Given the description of an element on the screen output the (x, y) to click on. 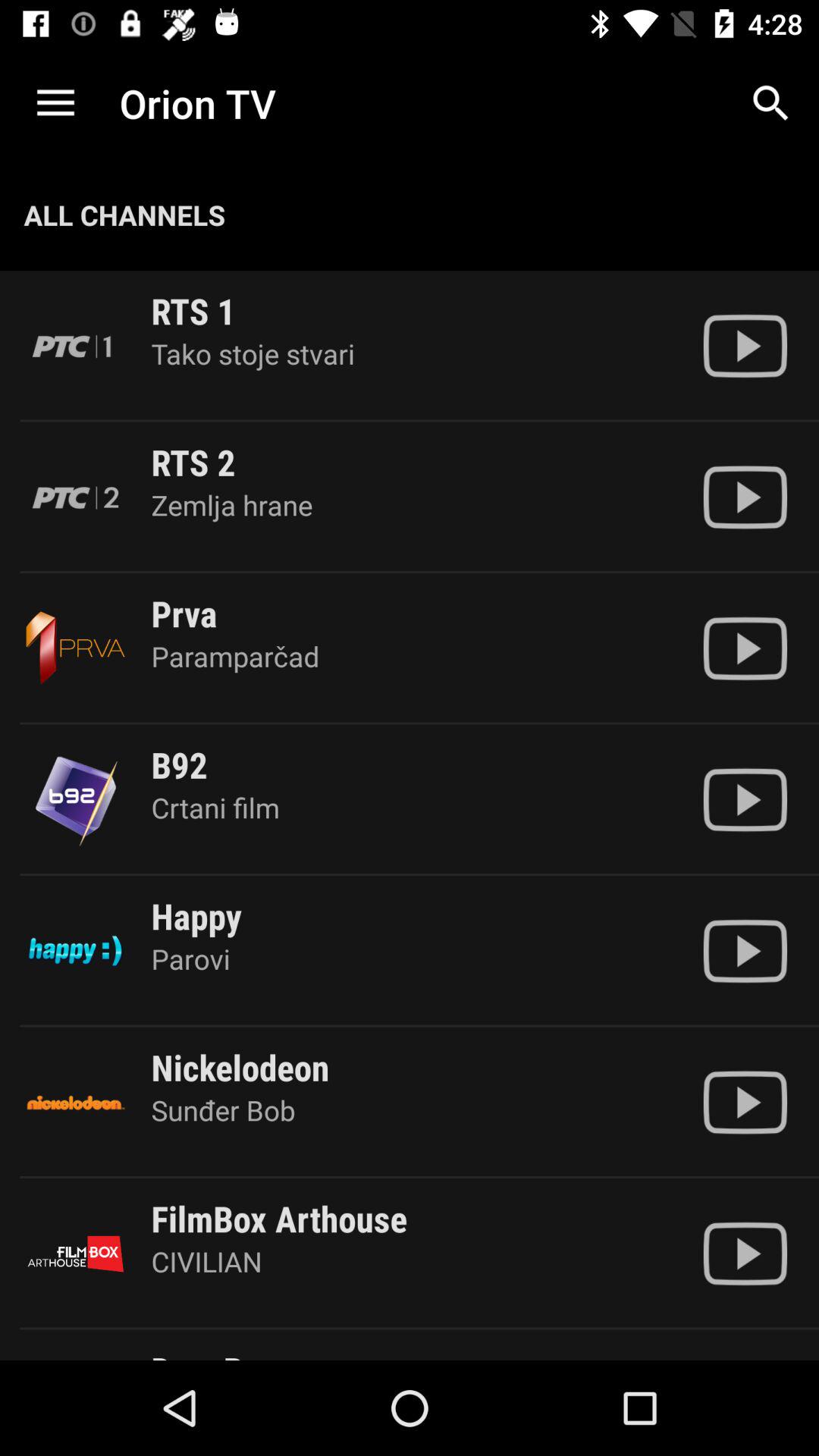
click the app to the left of the orion tv item (55, 103)
